Given the description of an element on the screen output the (x, y) to click on. 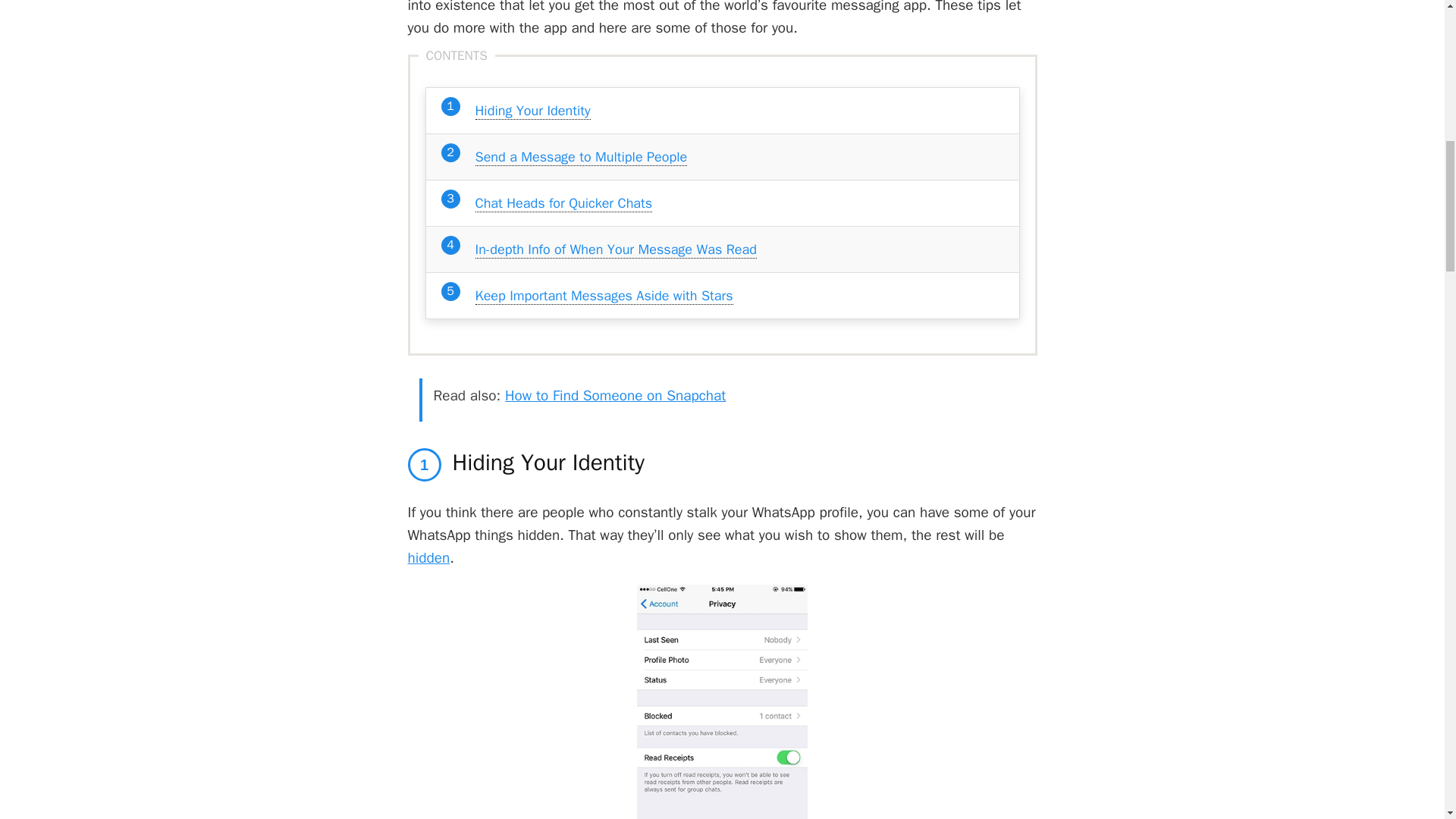
hidden (428, 557)
Chat Heads for Quicker Chats (563, 203)
In-depth Info of When Your Message Was Read (614, 249)
Keep Important Messages Aside with Stars (603, 295)
Hiding Your Identity (531, 110)
How to Find Someone on Snapchat (615, 395)
Send a Message to Multiple People (580, 157)
